Given the description of an element on the screen output the (x, y) to click on. 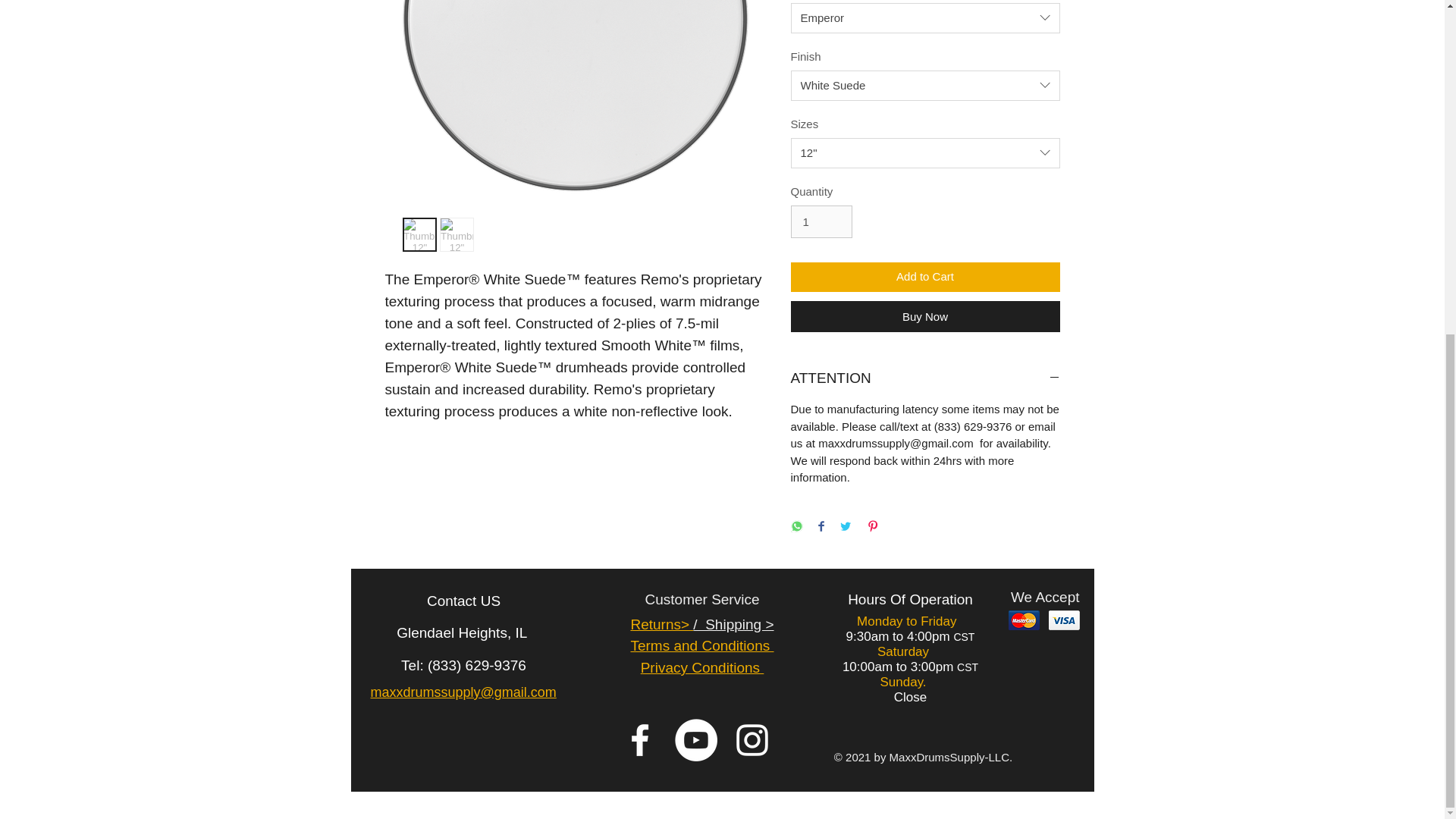
Emperor (924, 18)
Buy Now (924, 316)
12" (924, 153)
Add to Cart (924, 276)
White Suede (924, 85)
ATTENTION (924, 378)
1 (820, 222)
